Given the description of an element on the screen output the (x, y) to click on. 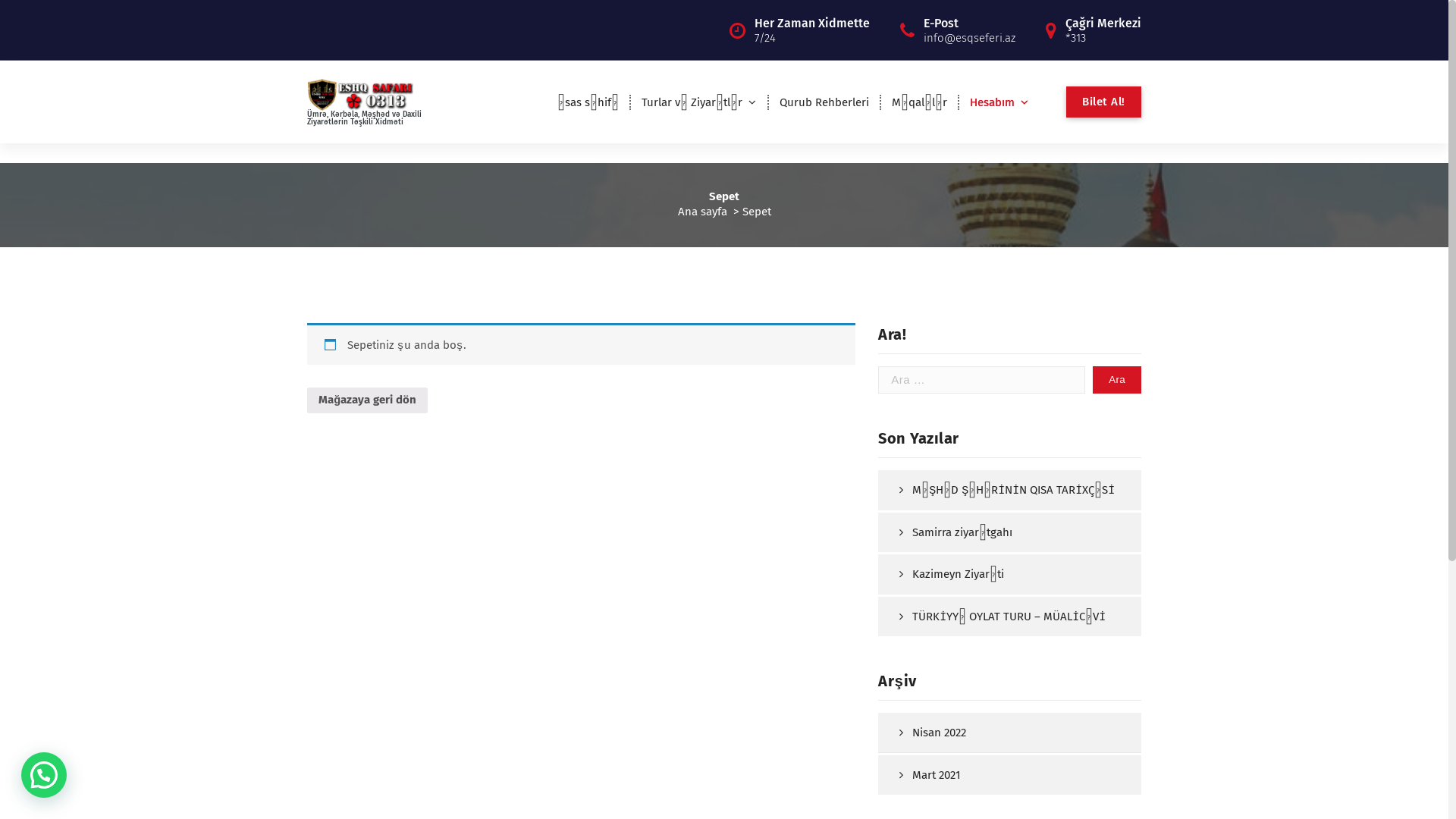
Mart 2021 Element type: text (1003, 775)
B
i
l
e
t
 A
l
! Element type: text (1103, 101)
E-Post
info@esqseferi.az Element type: text (969, 29)
Ana sayfa Element type: text (702, 211)
Nisan 2022 Element type: text (1003, 732)
Her Zaman Xidmette
7/24 Element type: text (811, 29)
Qurub Rehberleri Element type: text (824, 102)
Ara Element type: text (1116, 380)
